Given the description of an element on the screen output the (x, y) to click on. 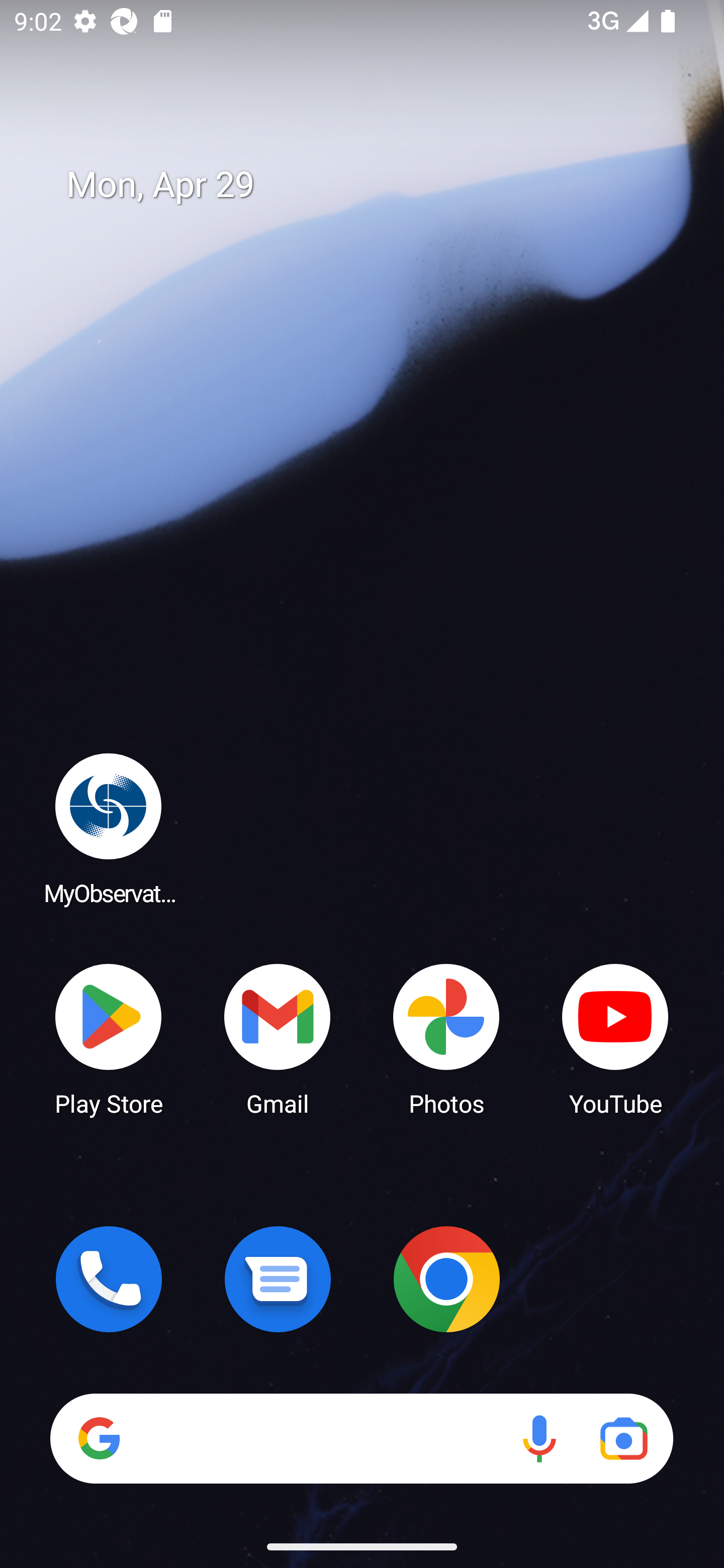
Mon, Apr 29 (375, 184)
MyObservatory (108, 828)
Play Store (108, 1038)
Gmail (277, 1038)
Photos (445, 1038)
YouTube (615, 1038)
Phone (108, 1279)
Messages (277, 1279)
Chrome (446, 1279)
Voice search (539, 1438)
Google Lens (623, 1438)
